Given the description of an element on the screen output the (x, y) to click on. 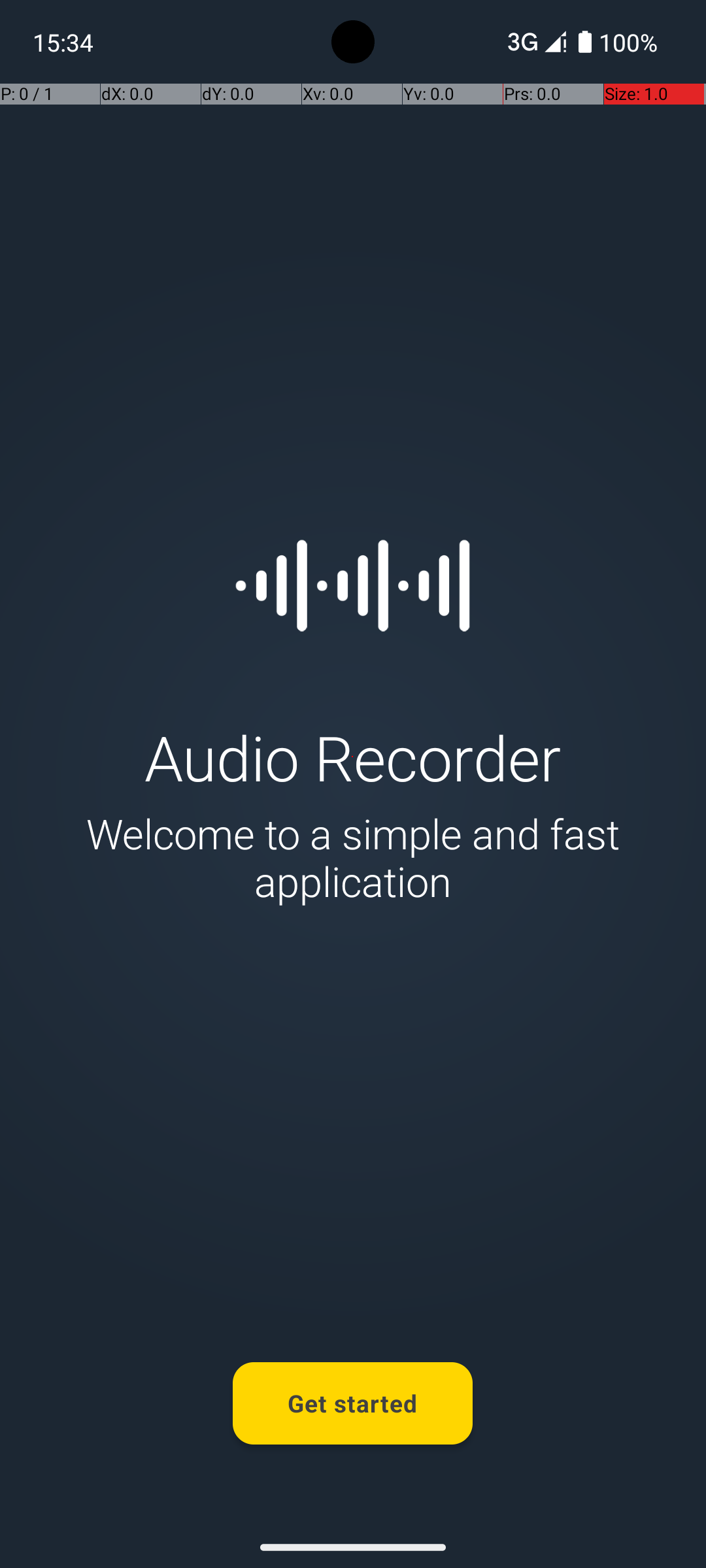
Get started Element type: android.widget.Button (352, 1403)
Audio Recorder Element type: android.widget.TextView (352, 756)
Welcome to a simple and fast application Element type: android.widget.TextView (352, 856)
